Given the description of an element on the screen output the (x, y) to click on. 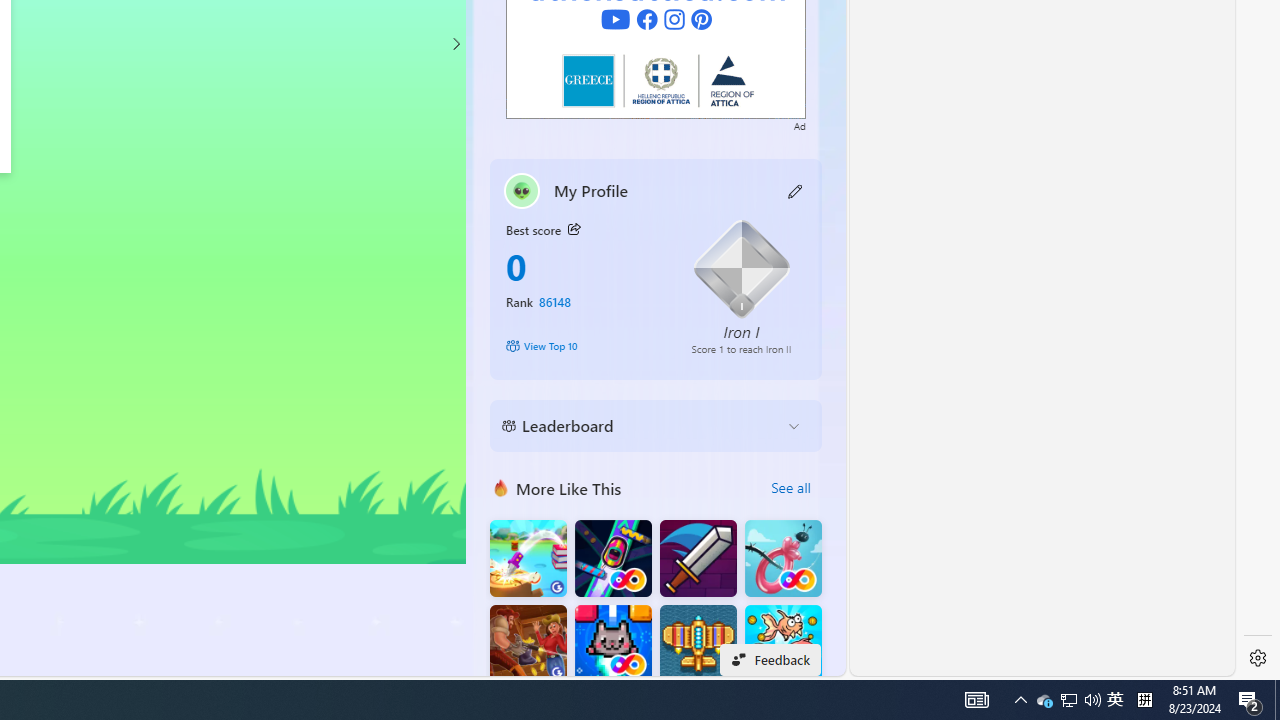
""'s avatar (522, 190)
Leaderboard (639, 425)
Balloon FRVR (783, 558)
Class: button edit-icon (795, 190)
